Given the description of an element on the screen output the (x, y) to click on. 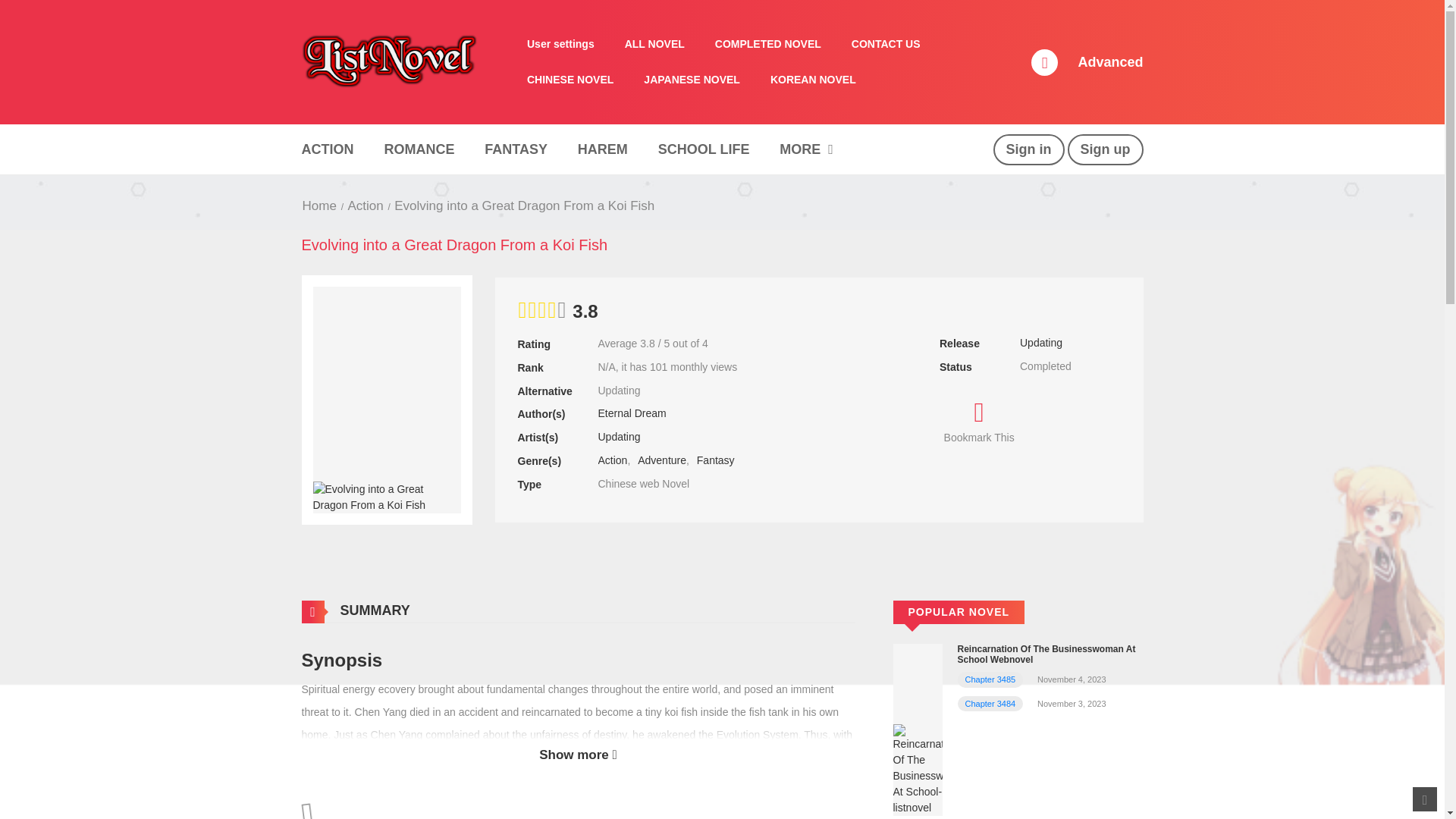
User settings (561, 44)
Advanced (1109, 61)
ROMANCE (419, 149)
SCHOOL LIFE (703, 149)
COMPLETED NOVEL (767, 44)
ACTION (326, 149)
KOREAN NOVEL (812, 79)
Search (970, 9)
CHINESE NOVEL (570, 79)
Reincarnation Of The Businesswoman At School Webnovel (917, 728)
